Given the description of an element on the screen output the (x, y) to click on. 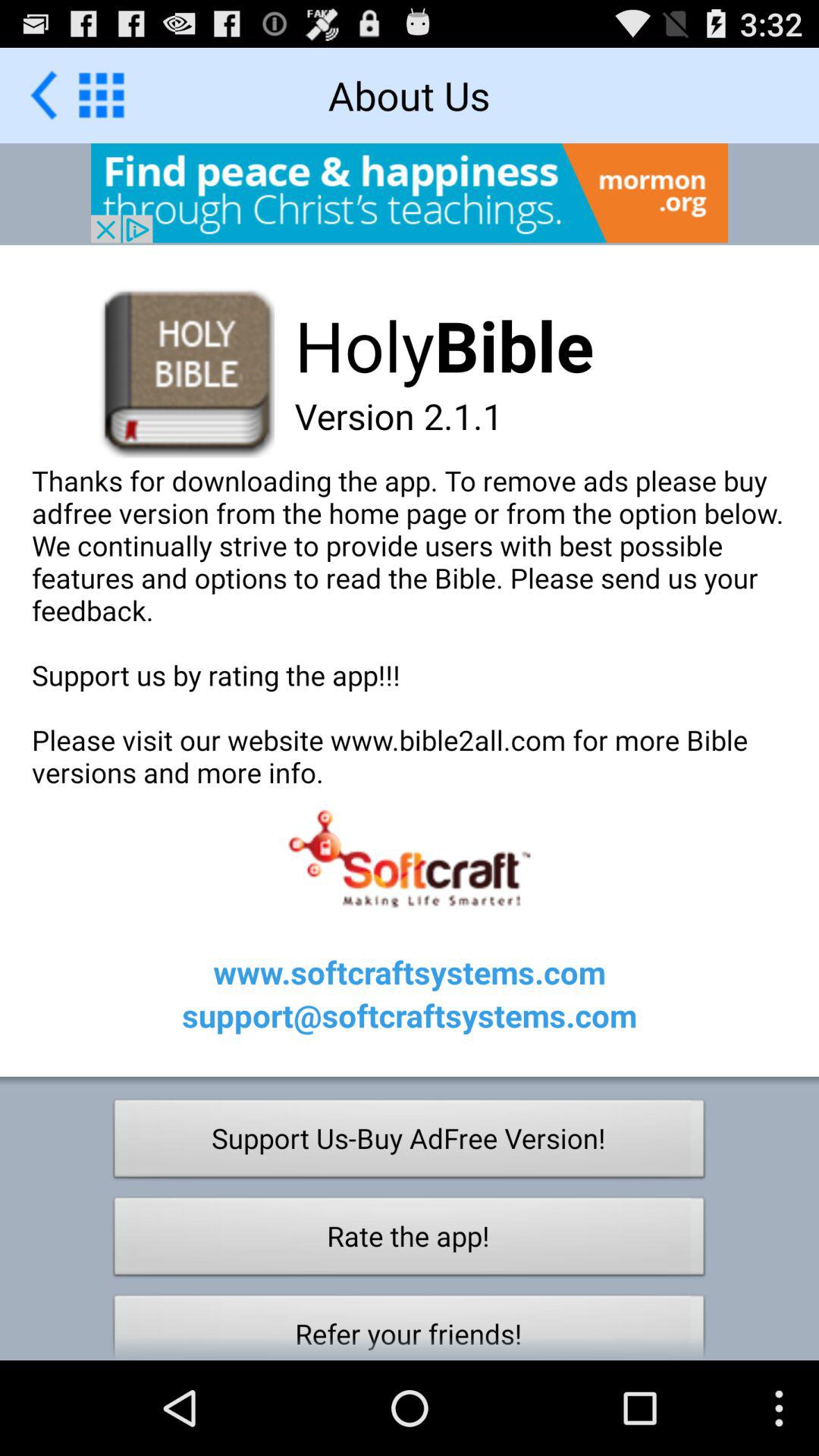
see more options (101, 95)
